Given the description of an element on the screen output the (x, y) to click on. 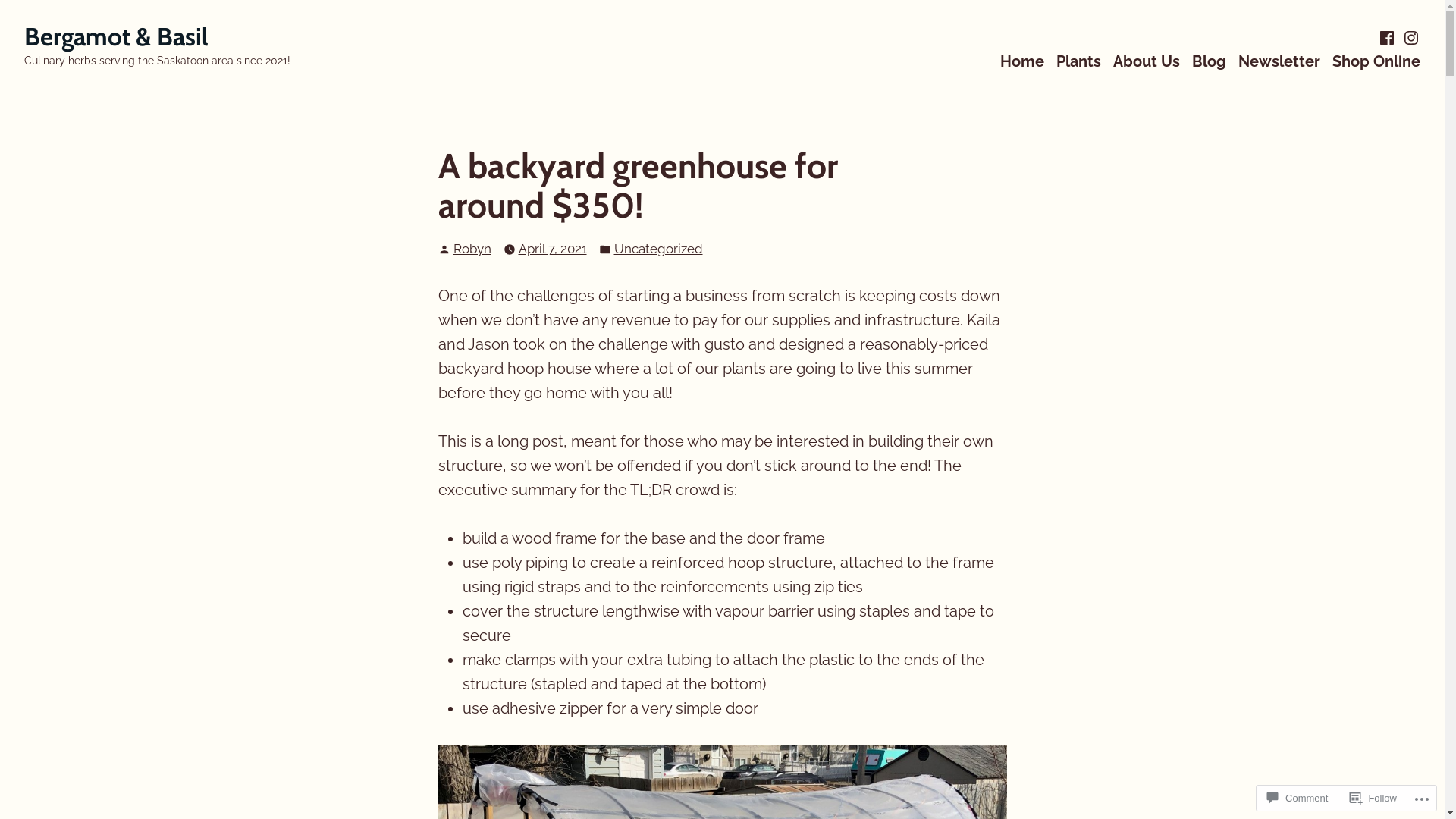
Robyn Element type: text (472, 248)
Uncategorized Element type: text (658, 248)
Home Element type: text (1022, 60)
About Us Element type: text (1146, 60)
Bergamot & Basil Element type: text (116, 36)
Shop Online Element type: text (1376, 60)
Plants Element type: text (1078, 60)
April 7, 2021 Element type: text (552, 248)
Newsletter Element type: text (1279, 60)
Follow Element type: text (1372, 797)
Blog Element type: text (1209, 60)
Comment Element type: text (1297, 797)
